Given the description of an element on the screen output the (x, y) to click on. 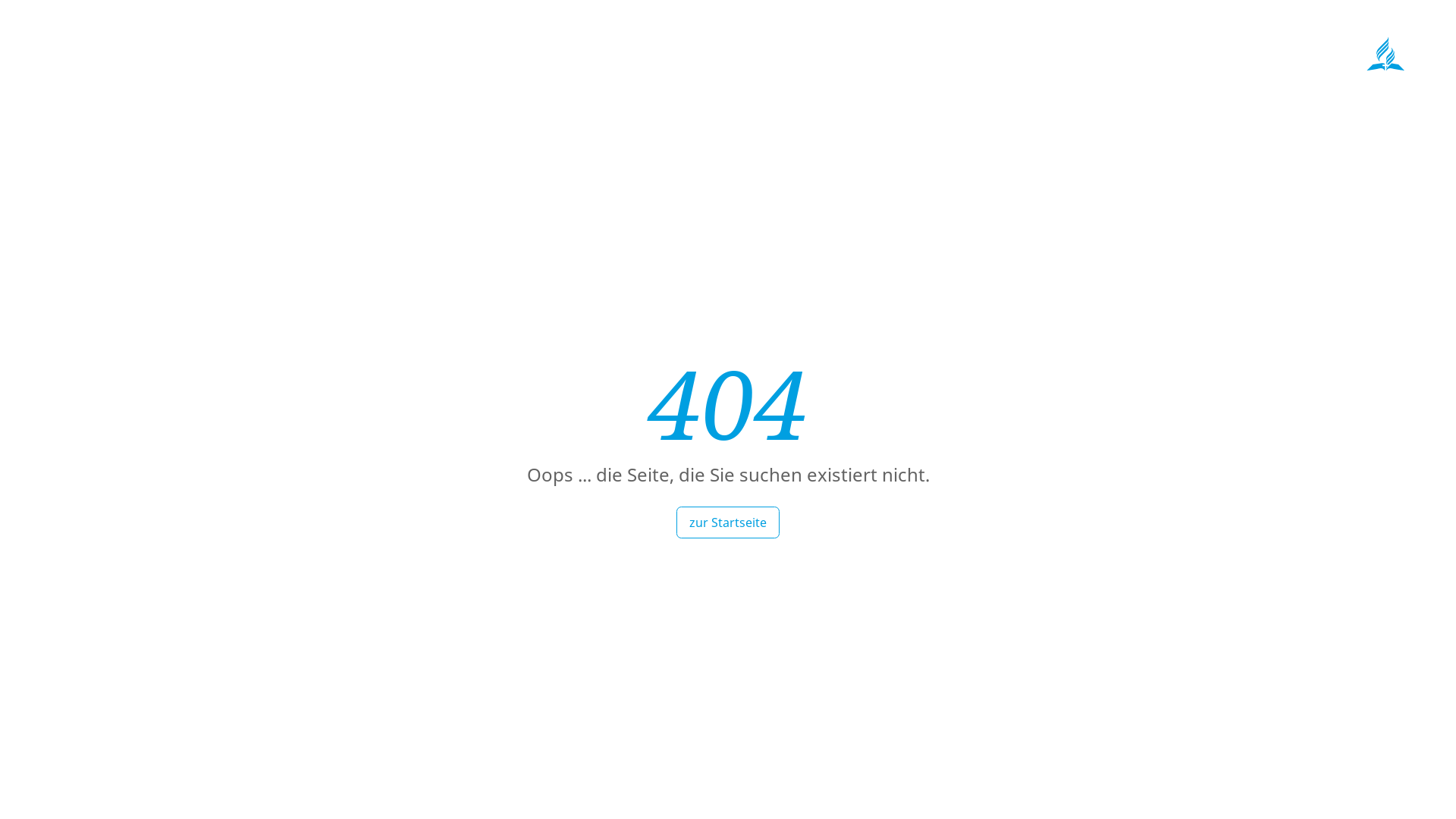
Kontakt Element type: text (1270, 77)
Adventgemeinde | Element type: text (799, 40)
Angebote Element type: text (1130, 77)
Unsere Kirche Element type: text (1040, 77)
Termine Element type: text (1202, 77)
zur Startseite Element type: text (727, 522)
